Given the description of an element on the screen output the (x, y) to click on. 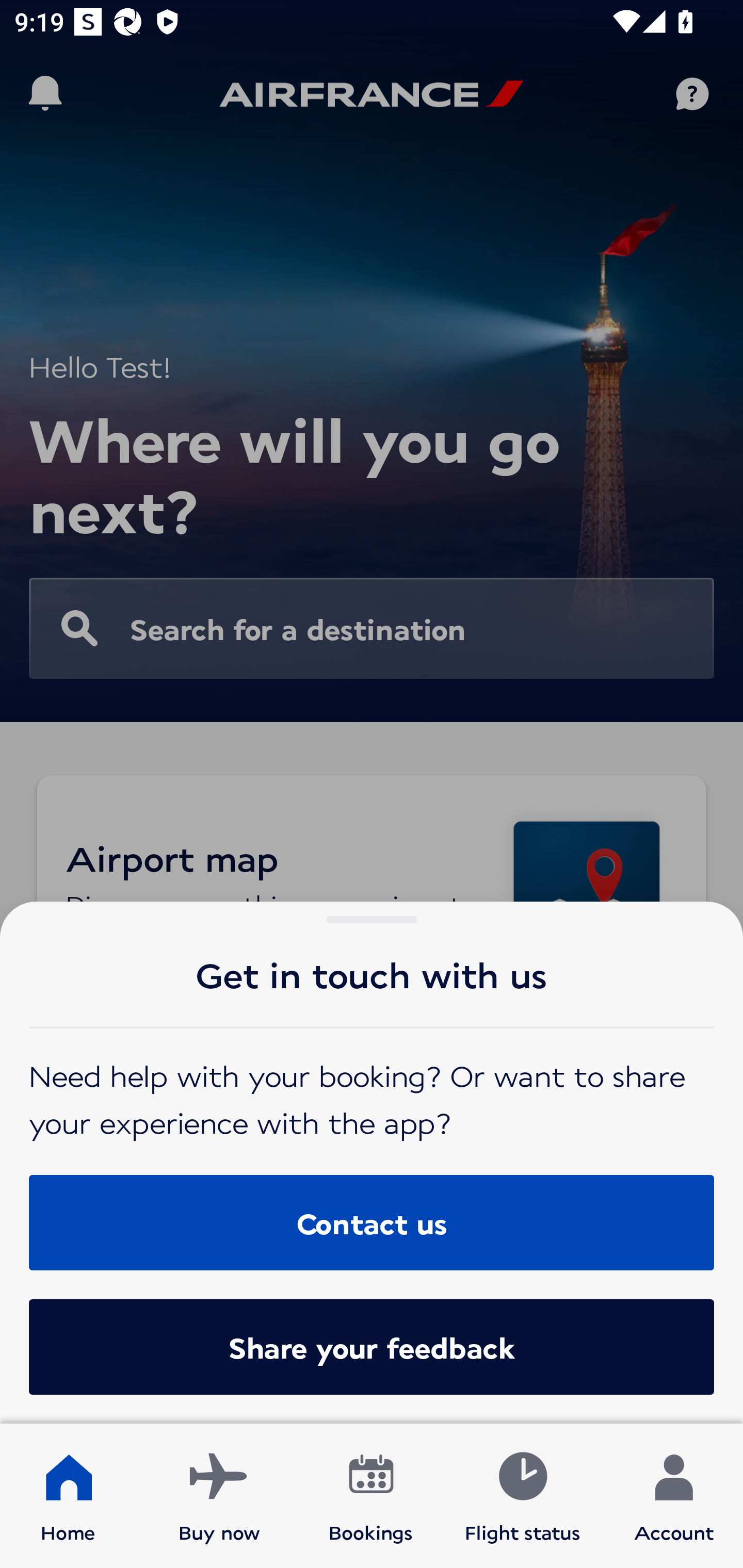
Contact us (371, 1222)
Share your feedback (371, 1346)
Buy now (219, 1495)
Bookings (370, 1495)
Flight status (522, 1495)
Account (674, 1495)
